Given the description of an element on the screen output the (x, y) to click on. 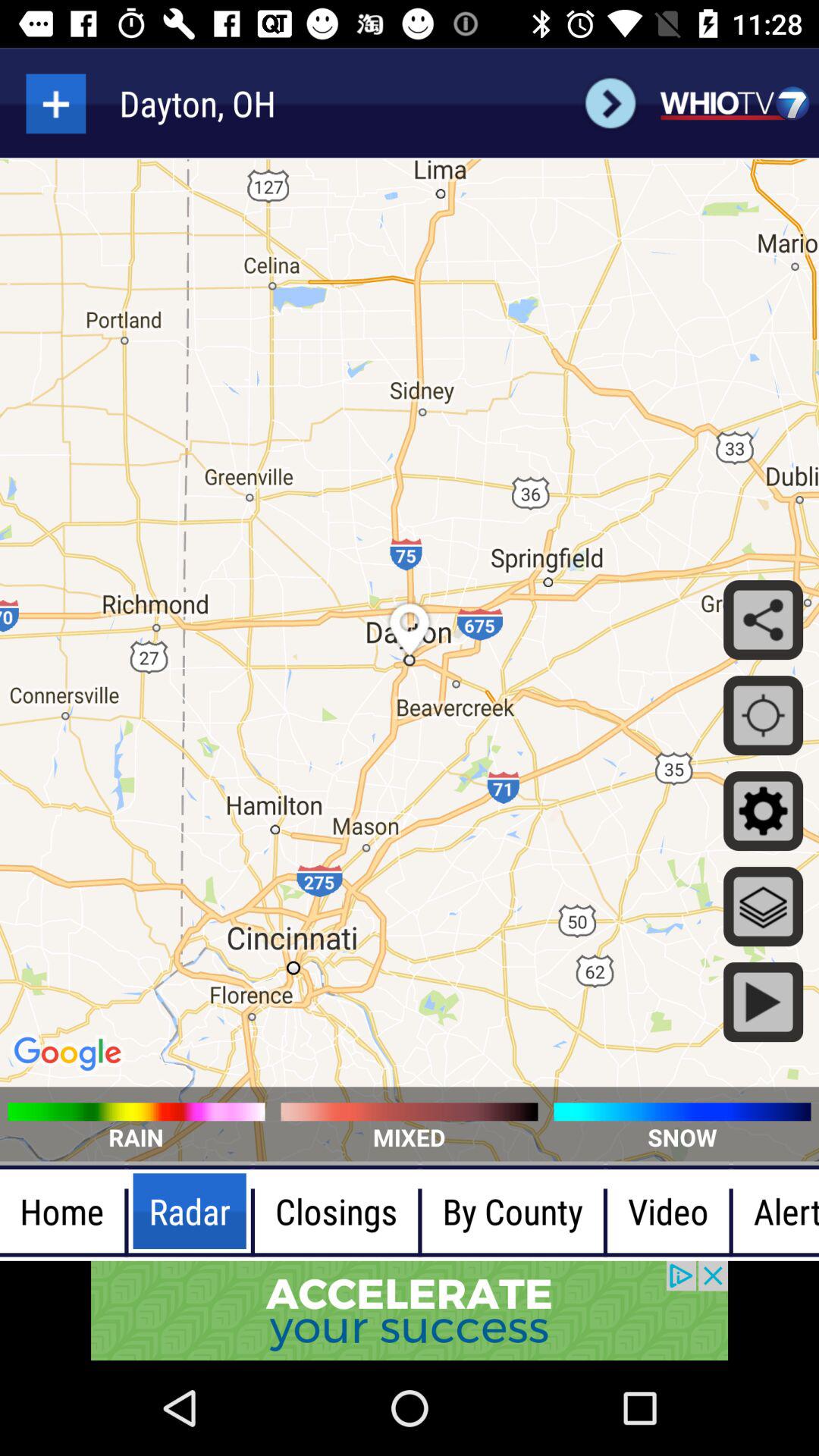
advisement (409, 1310)
